Given the description of an element on the screen output the (x, y) to click on. 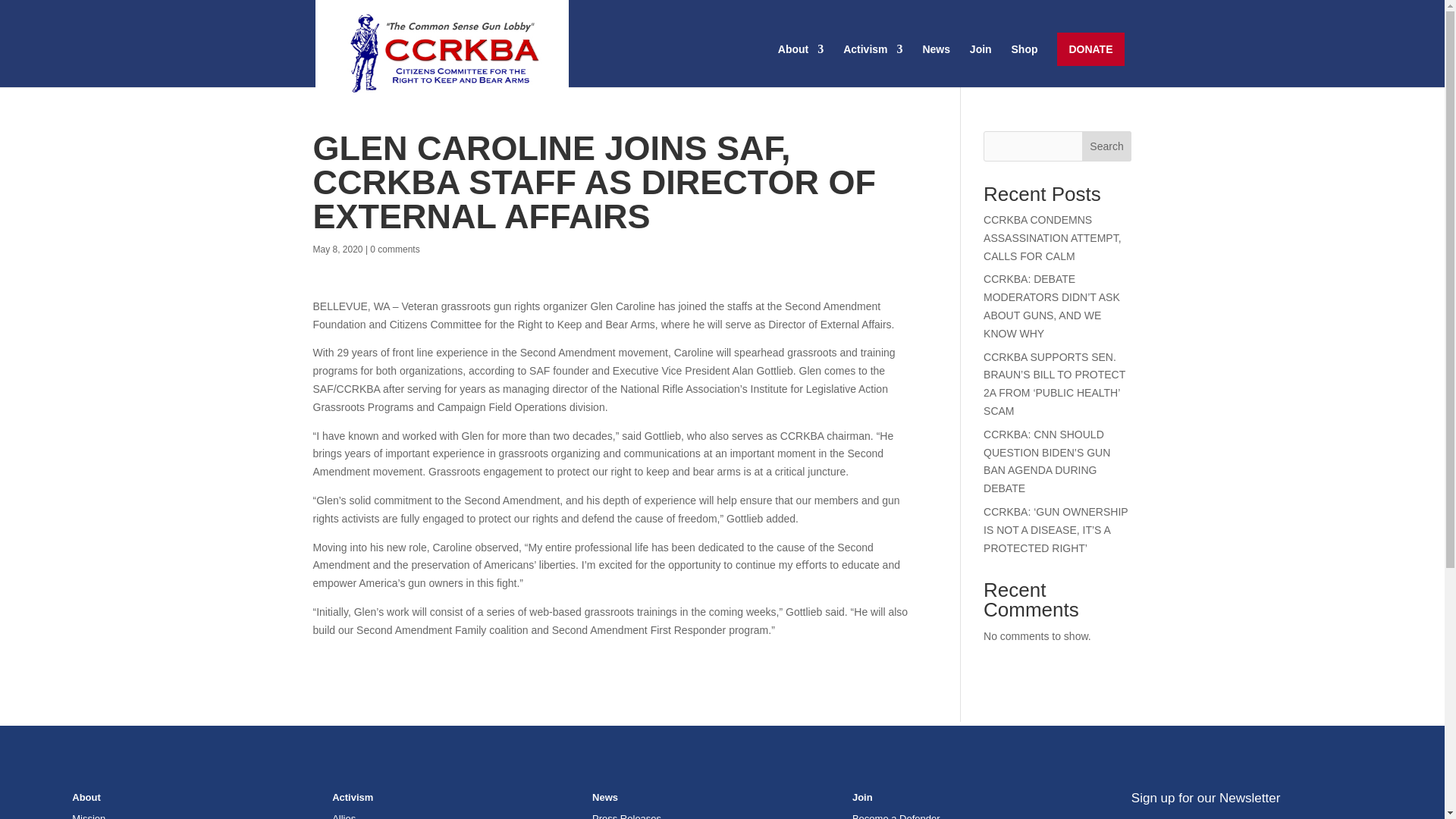
DONATE (1090, 49)
0 comments (394, 249)
Activism (872, 65)
About (800, 65)
CCRKBA CONDEMNS ASSASSINATION ATTEMPT, CALLS FOR CALM (1052, 237)
Search (1106, 146)
